Given the description of an element on the screen output the (x, y) to click on. 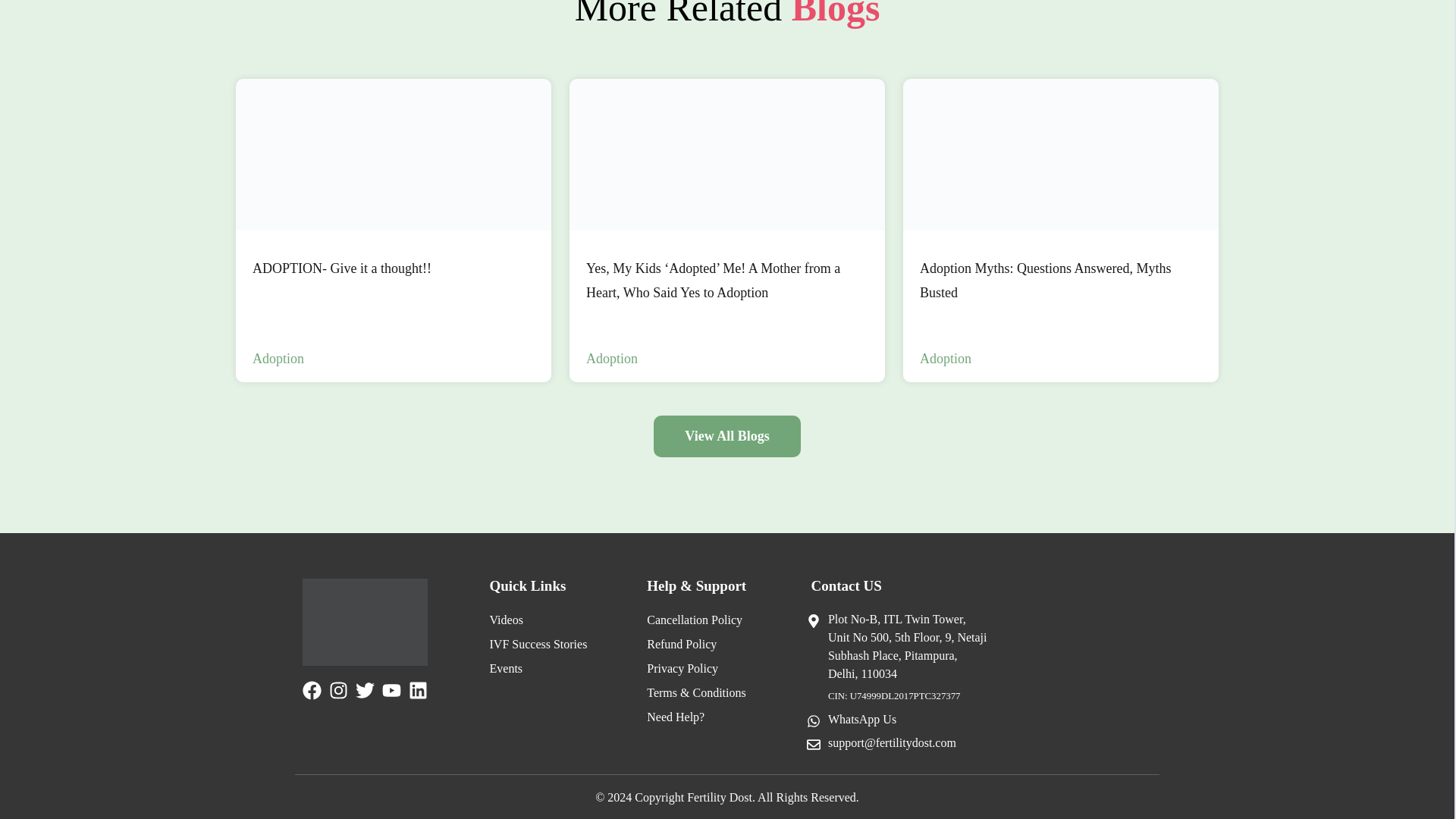
ADOPTION- Give it a thought!! (393, 230)
Adoption Myths: Questions Answered, Myths Busted (393, 154)
View All Blogs (1060, 154)
